Given the description of an element on the screen output the (x, y) to click on. 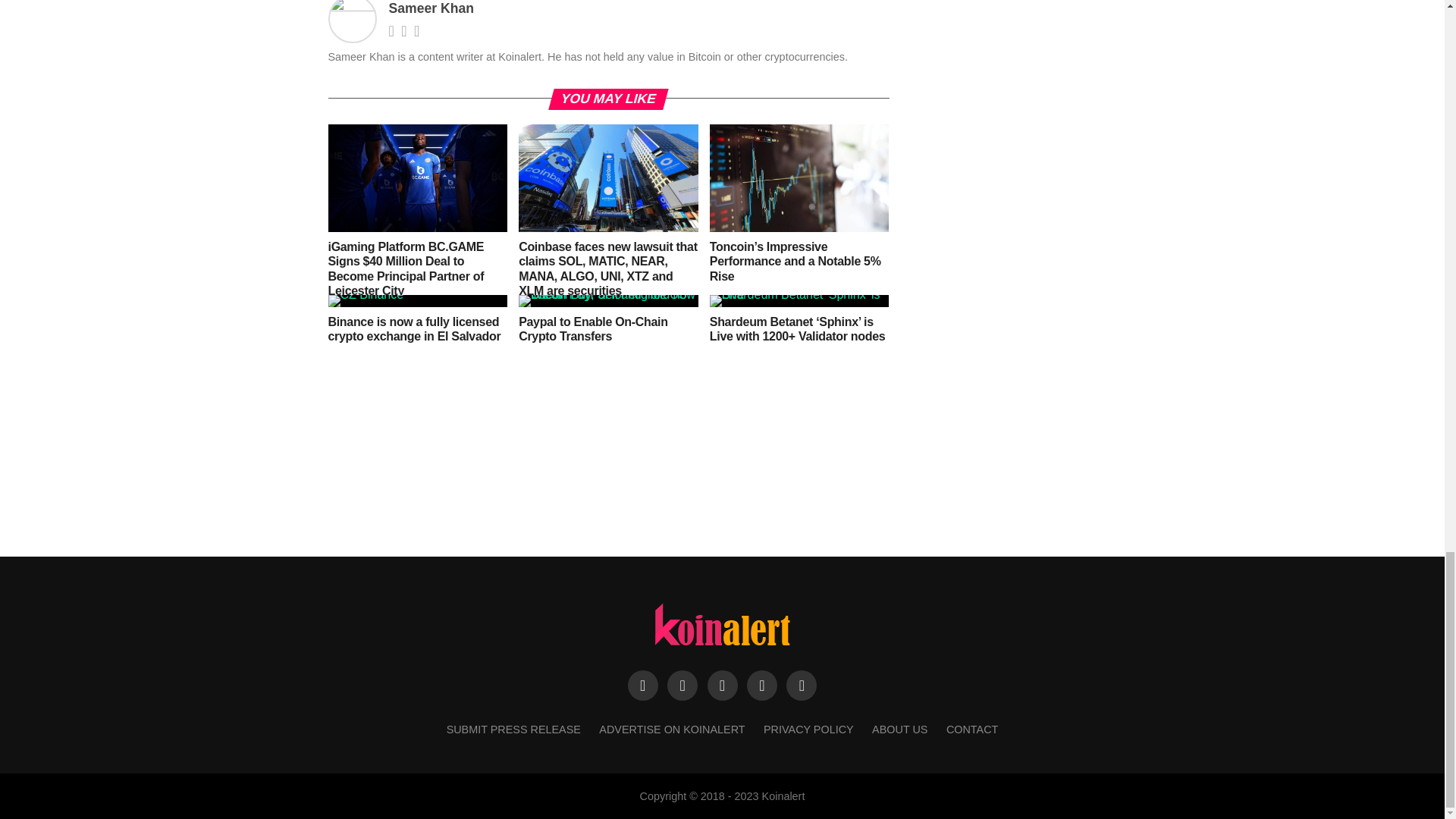
Posts by Sameer Khan (430, 7)
